Given the description of an element on the screen output the (x, y) to click on. 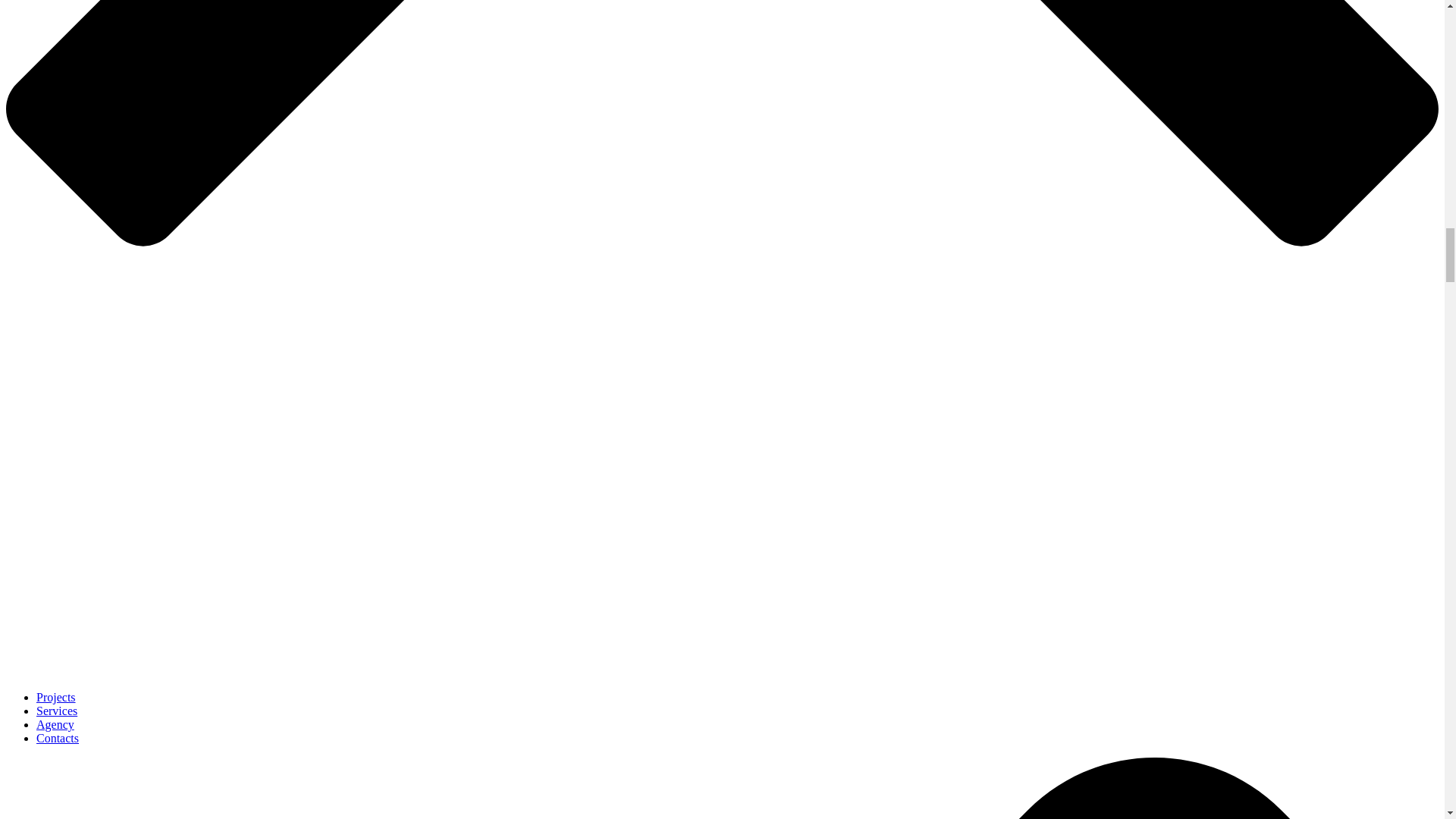
Services (56, 710)
Agency (55, 724)
Projects (55, 697)
Contacts (57, 738)
